Given the description of an element on the screen output the (x, y) to click on. 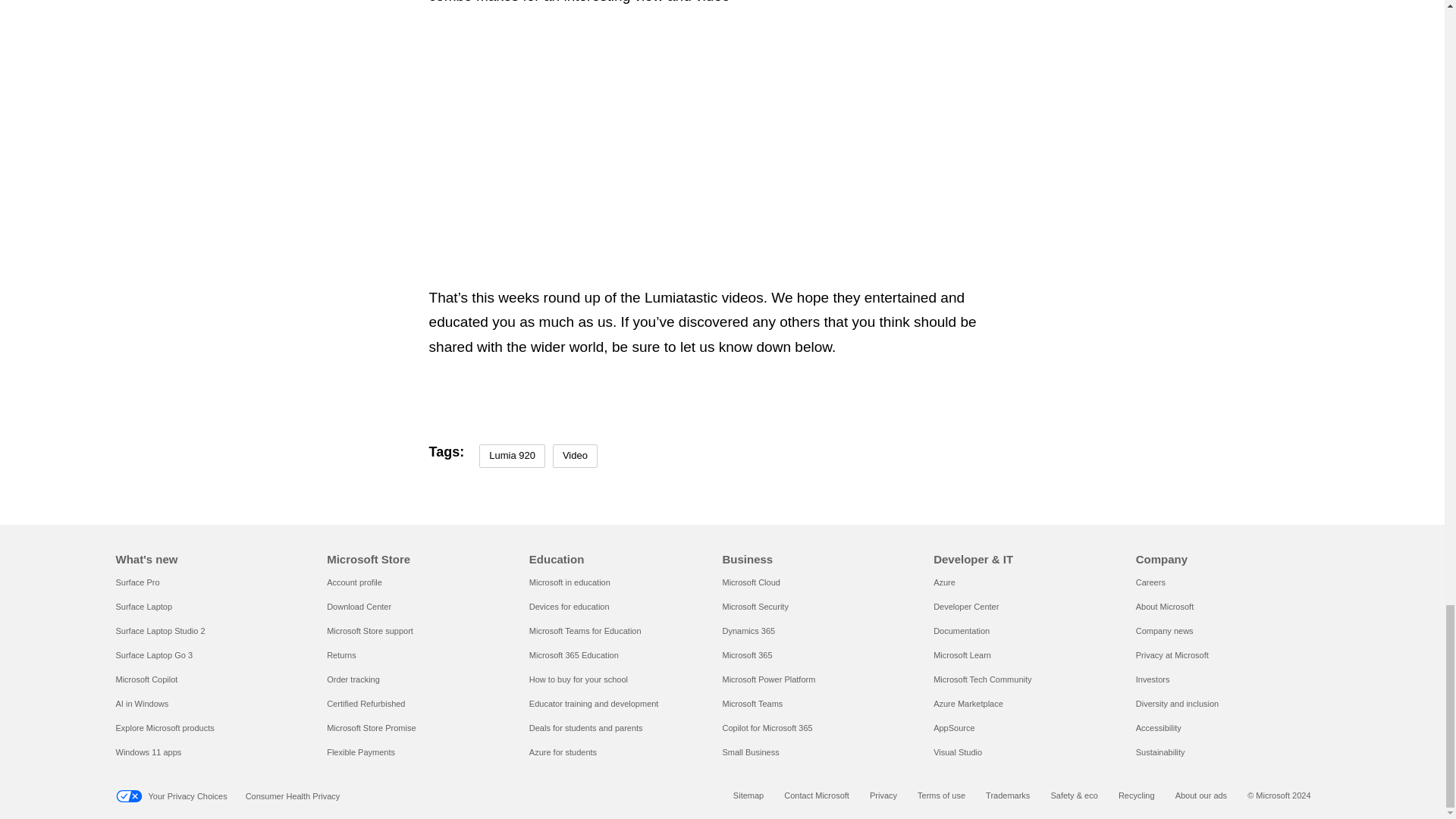
Lumia 920 Tag (511, 455)
Video Tag (574, 455)
